Given the description of an element on the screen output the (x, y) to click on. 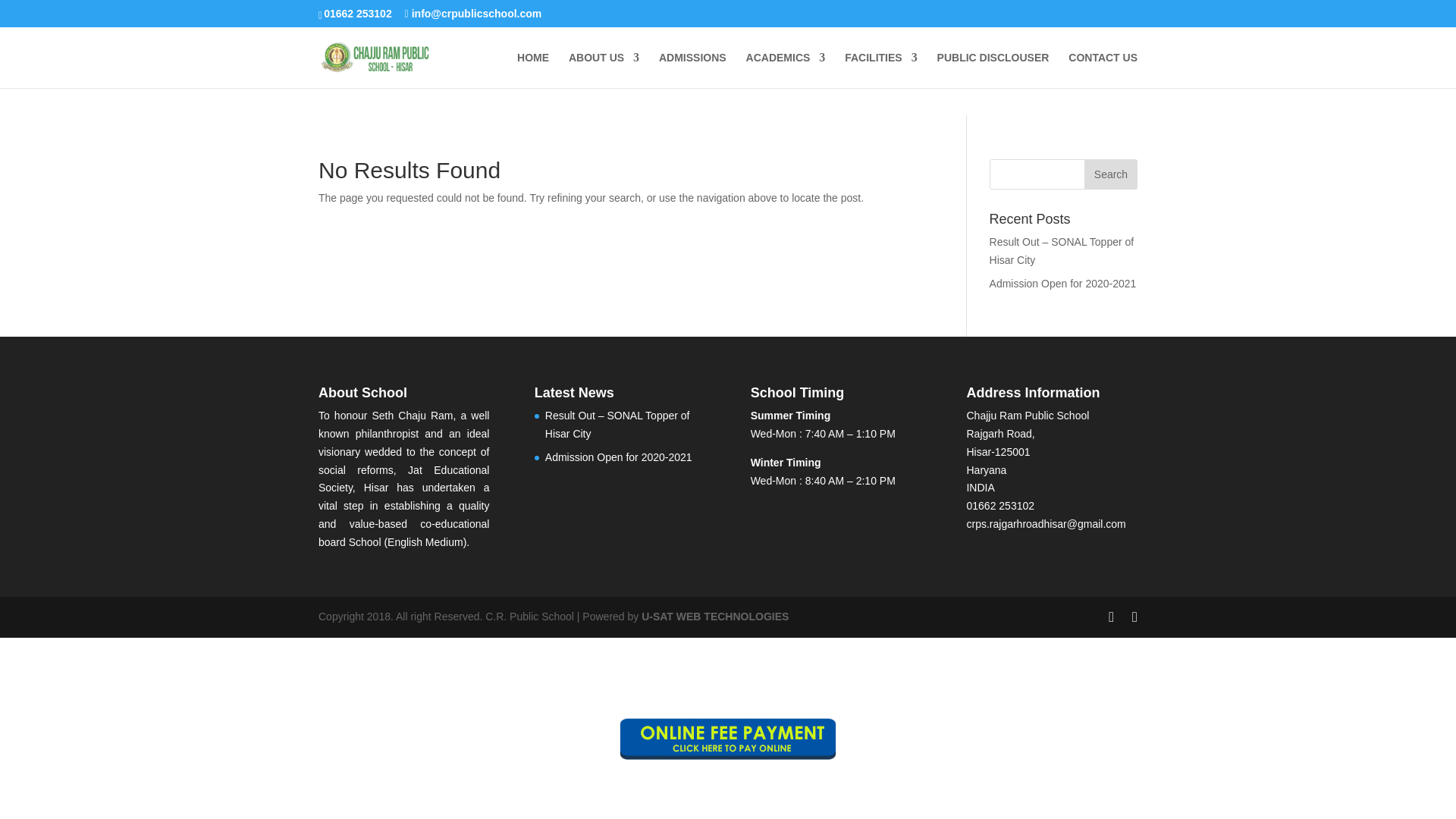
CONTACT US (1102, 69)
PUBLIC DISCLOUSER (993, 69)
HOME (532, 69)
Search (1110, 173)
Admission Open for 2020-2021 (618, 457)
ABOUT US (604, 69)
Search (1110, 173)
ACADEMICS (785, 69)
U-SAT WEB TECHNOLOGIES (715, 616)
Admission Open for 2020-2021 (1063, 283)
